Given the description of an element on the screen output the (x, y) to click on. 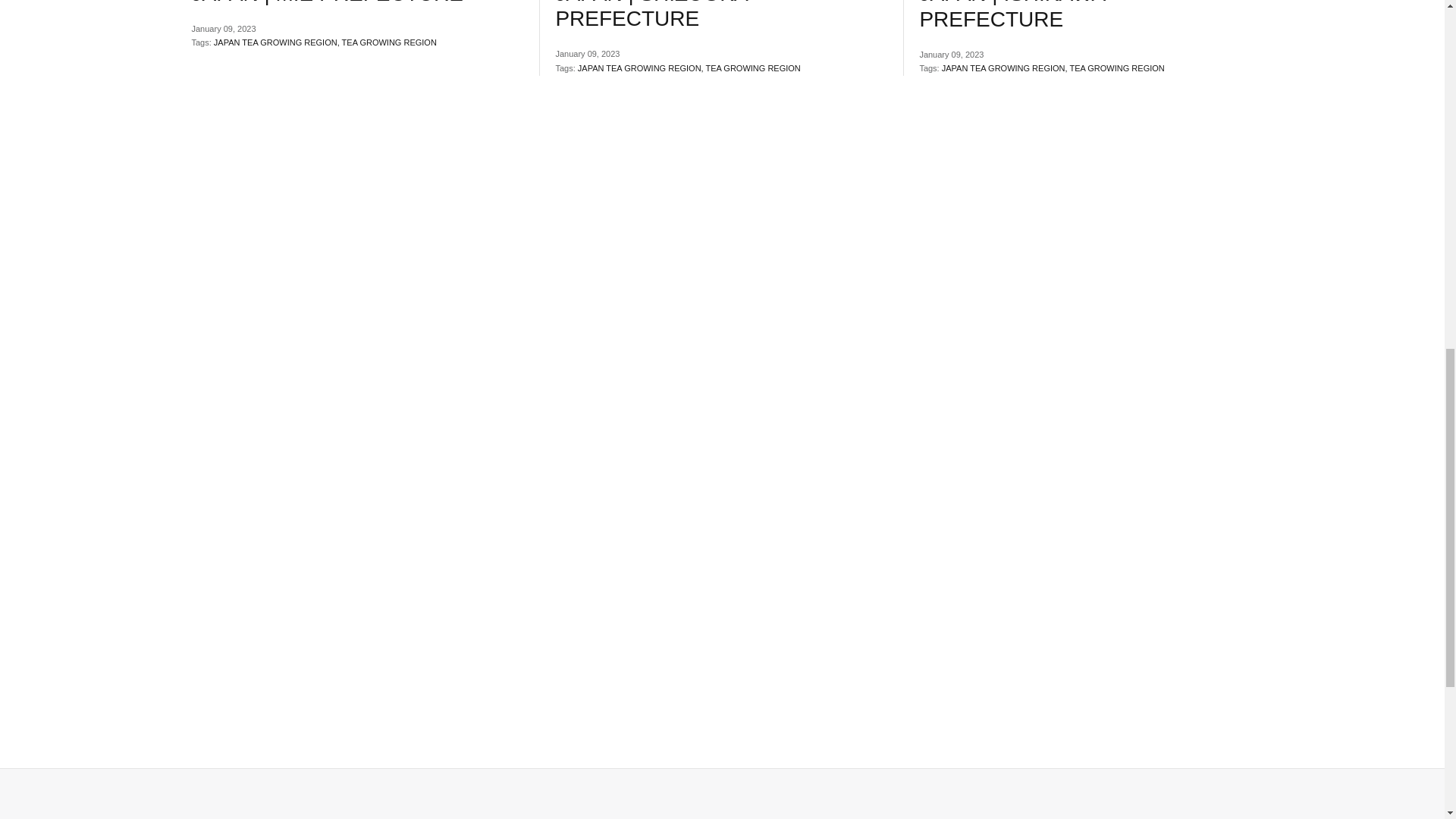
Show products matching tag JAPAN TEA GROWING REGION (276, 41)
Show products matching tag TEA GROWING REGION (389, 41)
Show products matching tag JAPAN TEA GROWING REGION (1004, 67)
Show products matching tag TEA GROWING REGION (1115, 67)
Show products matching tag TEA GROWING REGION (753, 67)
Show products matching tag JAPAN TEA GROWING REGION (640, 67)
